Given the description of an element on the screen output the (x, y) to click on. 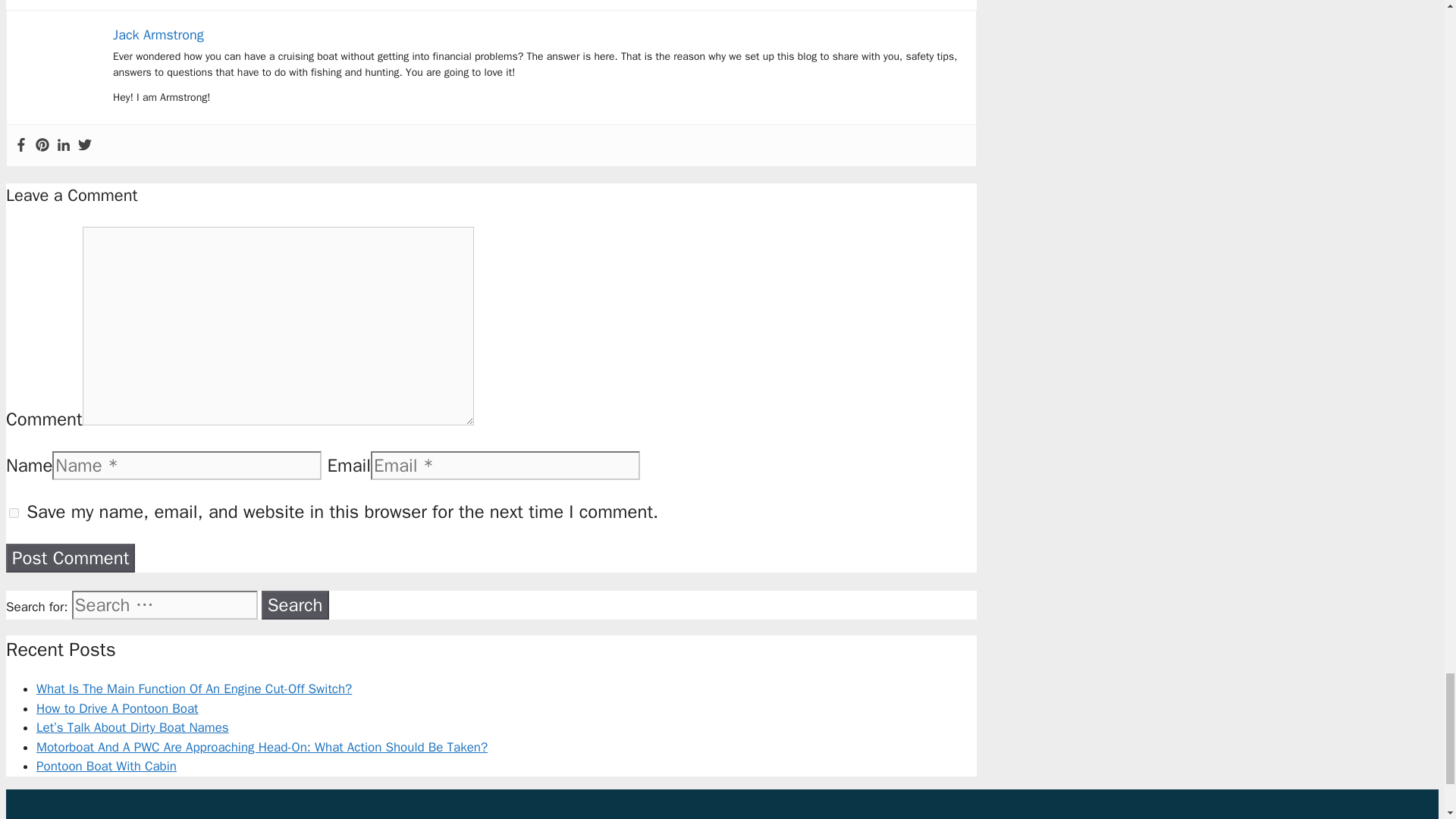
Search for: (164, 604)
How to Drive A Pontoon Boat (117, 708)
Jack Armstrong (158, 34)
Search (295, 604)
Post Comment (70, 557)
Post Comment (70, 557)
yes (13, 512)
What Is The Main Function Of An Engine Cut-Off Switch? (194, 688)
Pontoon Boat With Cabin (106, 765)
Search (295, 604)
